Given the description of an element on the screen output the (x, y) to click on. 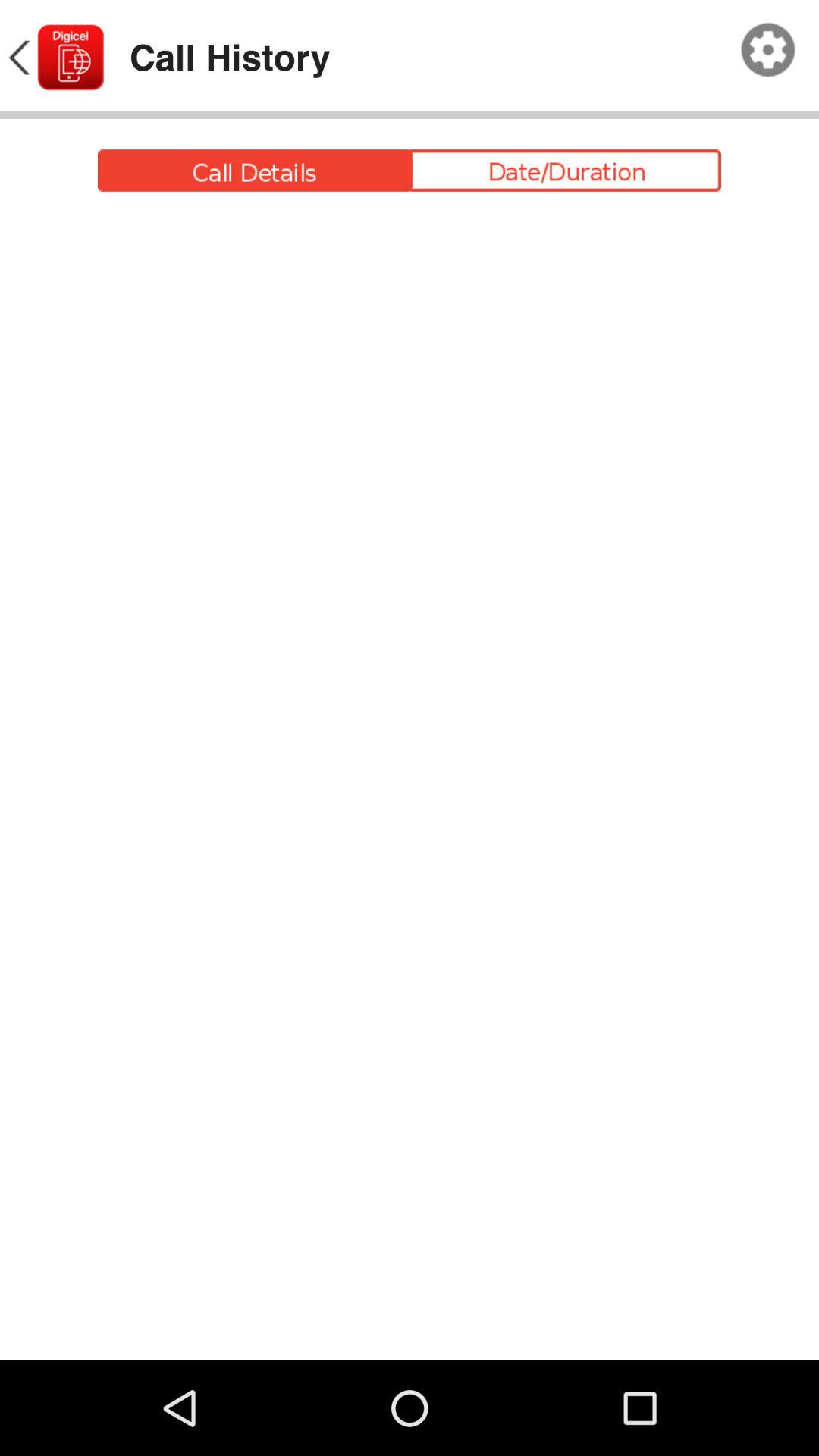
click event function (409, 170)
